Given the description of an element on the screen output the (x, y) to click on. 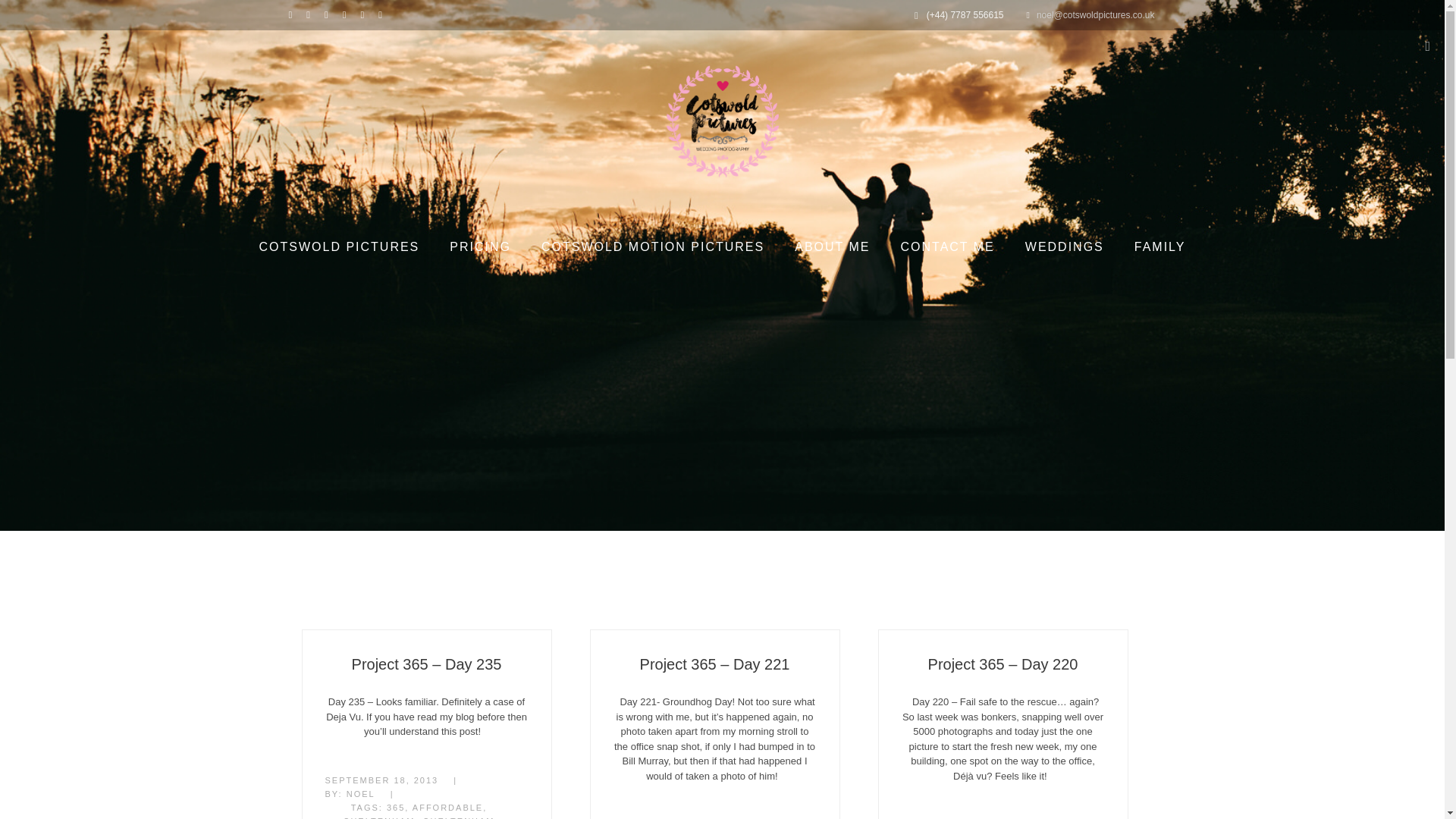
FAMILY (1160, 247)
CONTACT ME (947, 247)
ABOUT ME (831, 247)
LinkedIn (329, 14)
Pinterest (383, 14)
Facebook (293, 14)
Search (21, 10)
COTSWOLD PICTURES (339, 247)
Instagram (347, 14)
PRICING (479, 247)
